Given the description of an element on the screen output the (x, y) to click on. 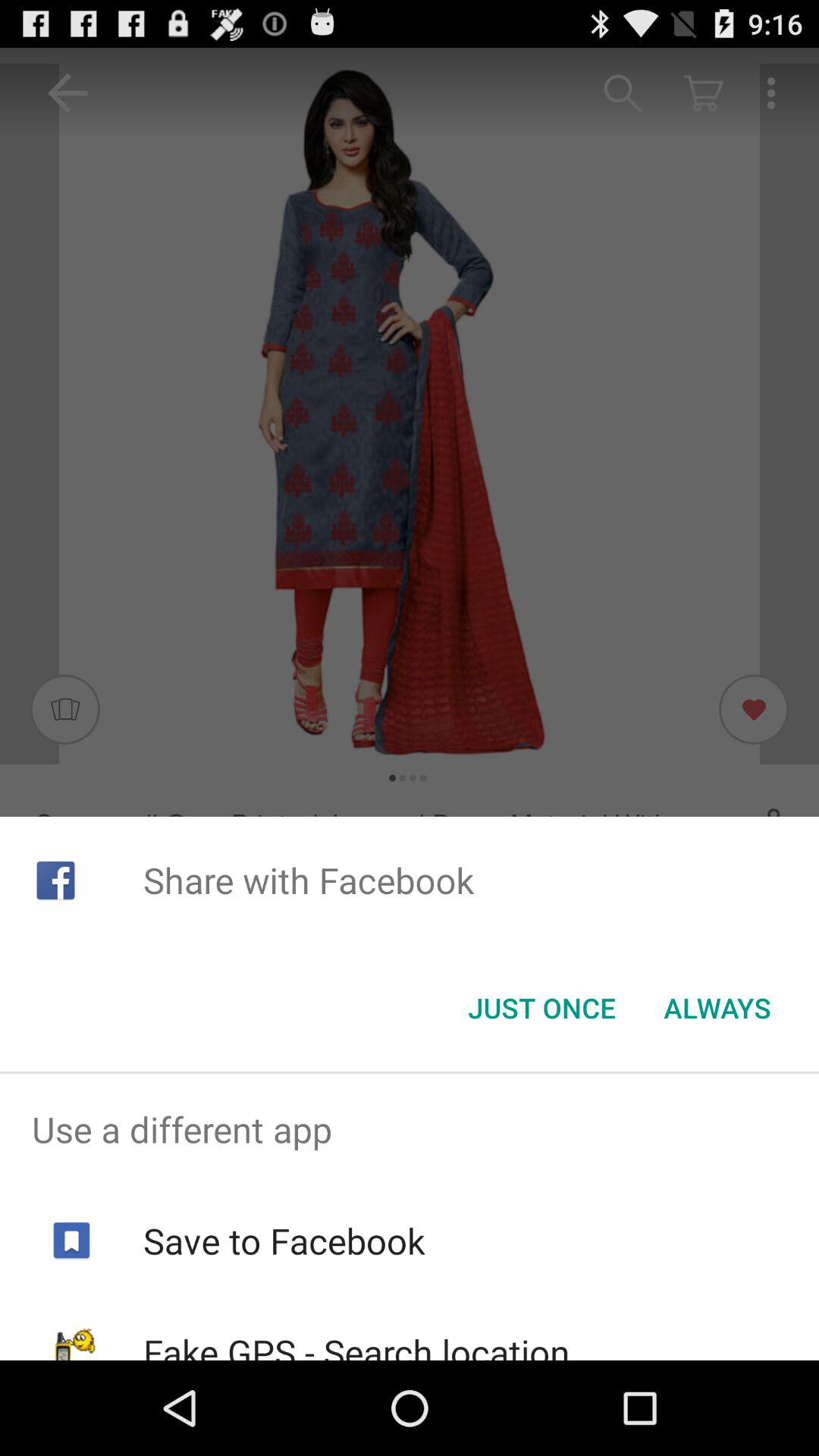
launch the app above the save to facebook item (409, 1129)
